Given the description of an element on the screen output the (x, y) to click on. 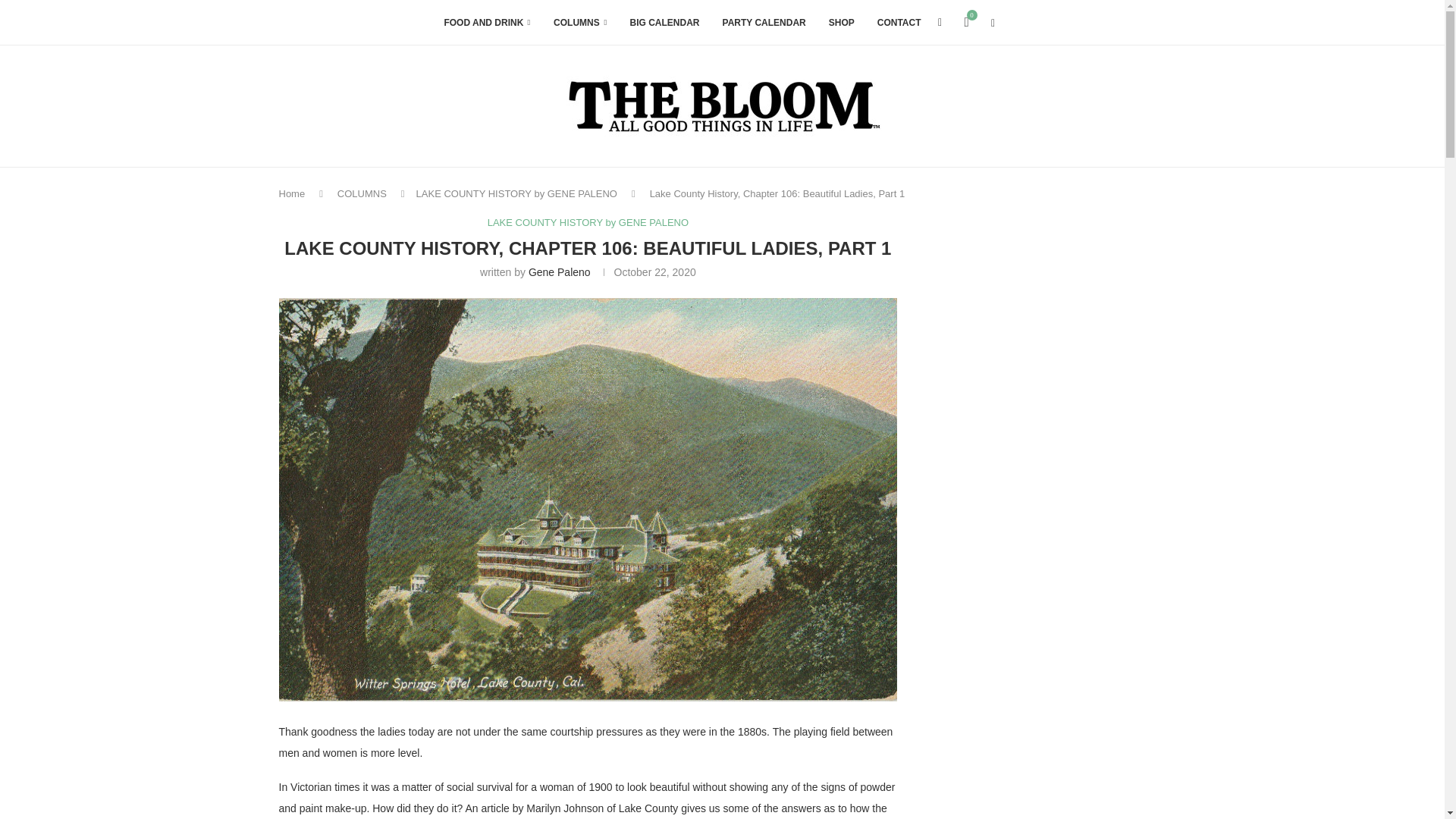
BIG CALENDAR (665, 22)
CONTACT (899, 22)
LAKE COUNTY HISTORY by GENE PALENO (587, 223)
FOOD AND DRINK (487, 22)
Gene Paleno (559, 272)
LAKE COUNTY HISTORY by GENE PALENO (516, 193)
PARTY CALENDAR (764, 22)
COLUMNS (580, 22)
COLUMNS (362, 193)
